Given the description of an element on the screen output the (x, y) to click on. 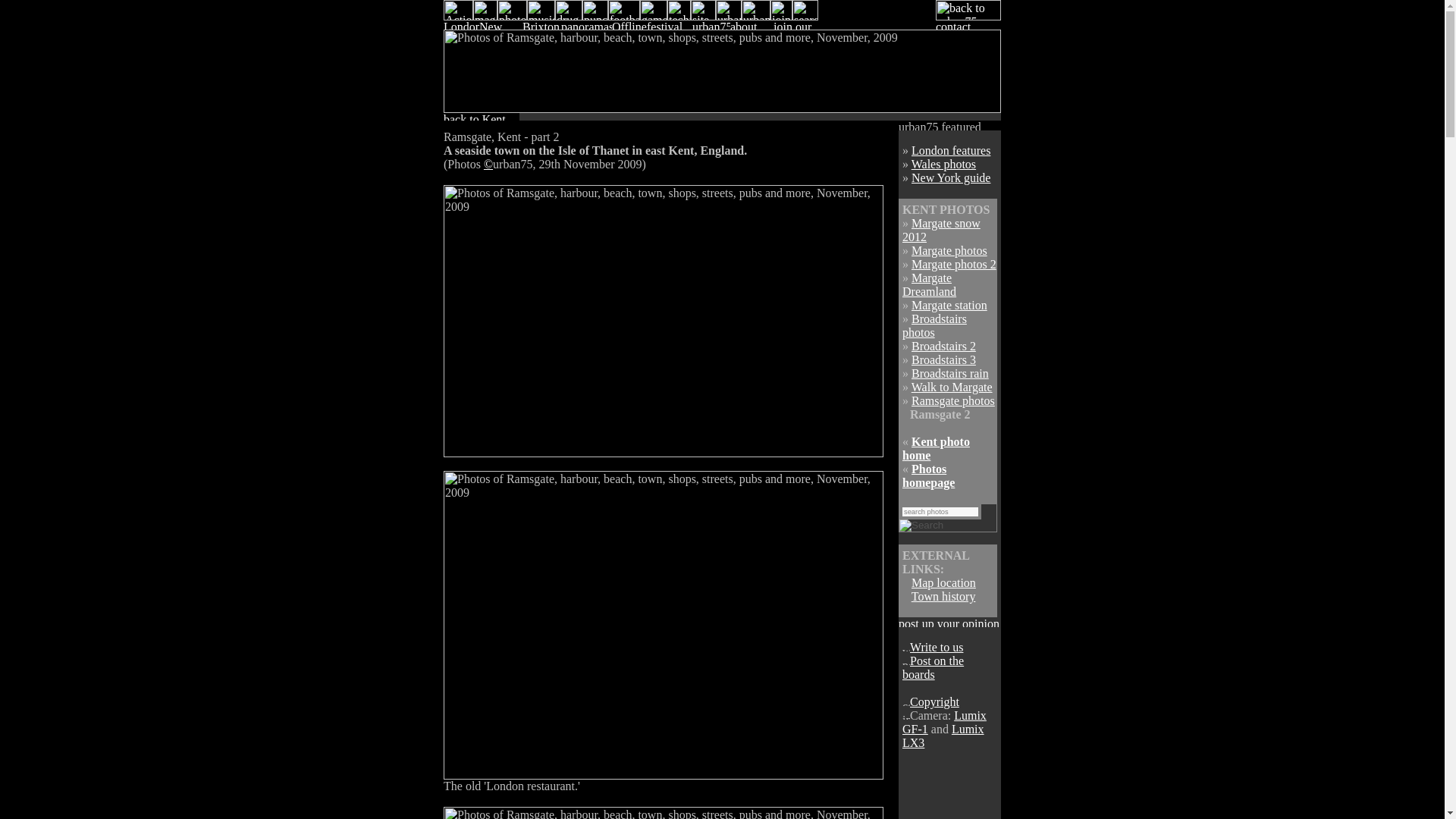
Margate Dreamland (929, 284)
Margate photos 2 (953, 264)
New York guide (950, 177)
London features (950, 150)
search photos (940, 511)
Search (921, 525)
Margate station (949, 305)
Margate snow 2012 (940, 230)
Margate photos (949, 250)
Wales photos (943, 164)
